Given the description of an element on the screen output the (x, y) to click on. 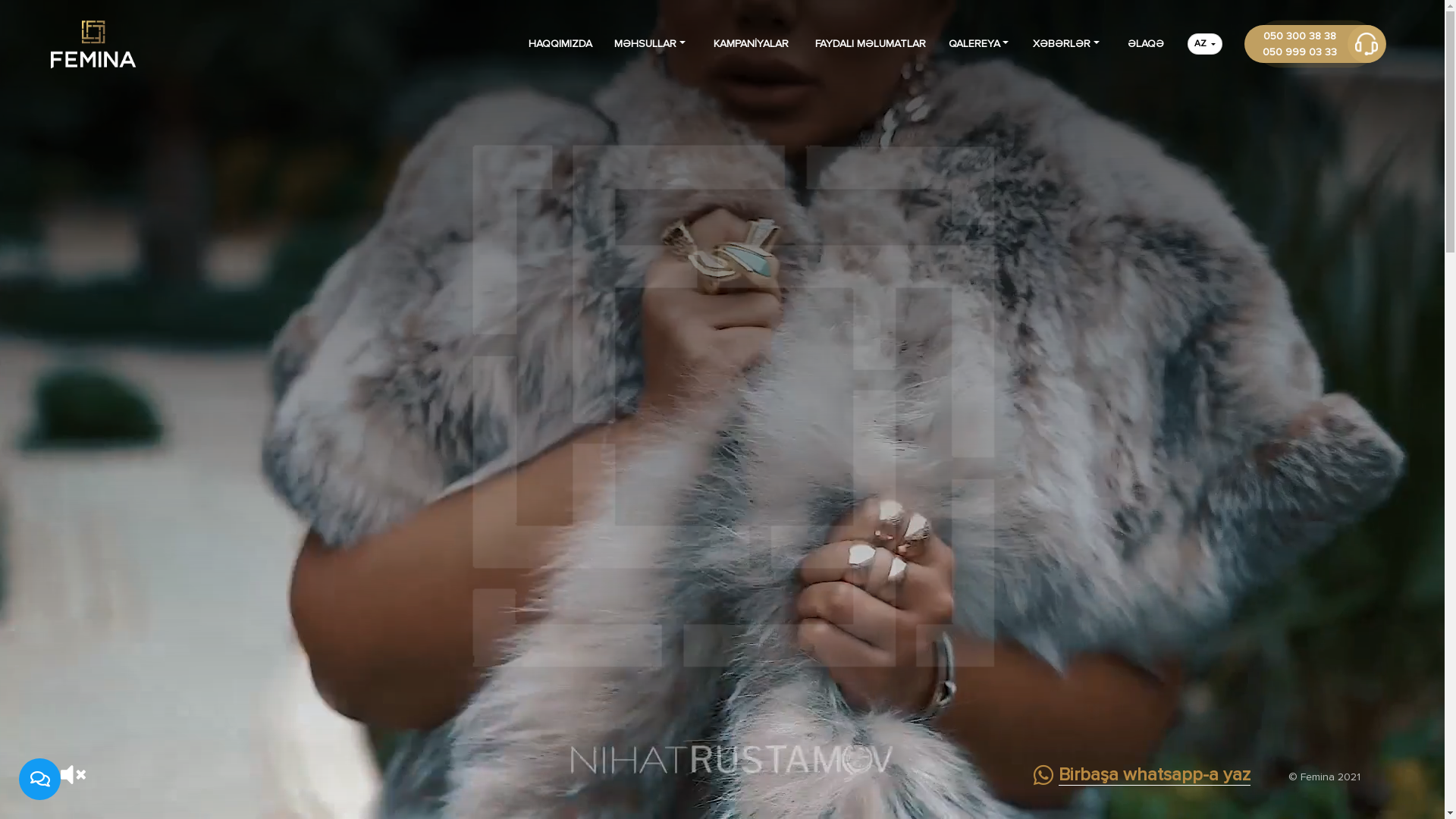
KAMPANIYALAR Element type: text (751, 44)
QALEREYA Element type: text (981, 44)
AZ Element type: text (1204, 43)
QALEREYA Element type: text (1009, 79)
HAQQIMIZDA Element type: text (559, 44)
050 300 38 38
050 999 03 33 Element type: text (1315, 43)
